Given the description of an element on the screen output the (x, y) to click on. 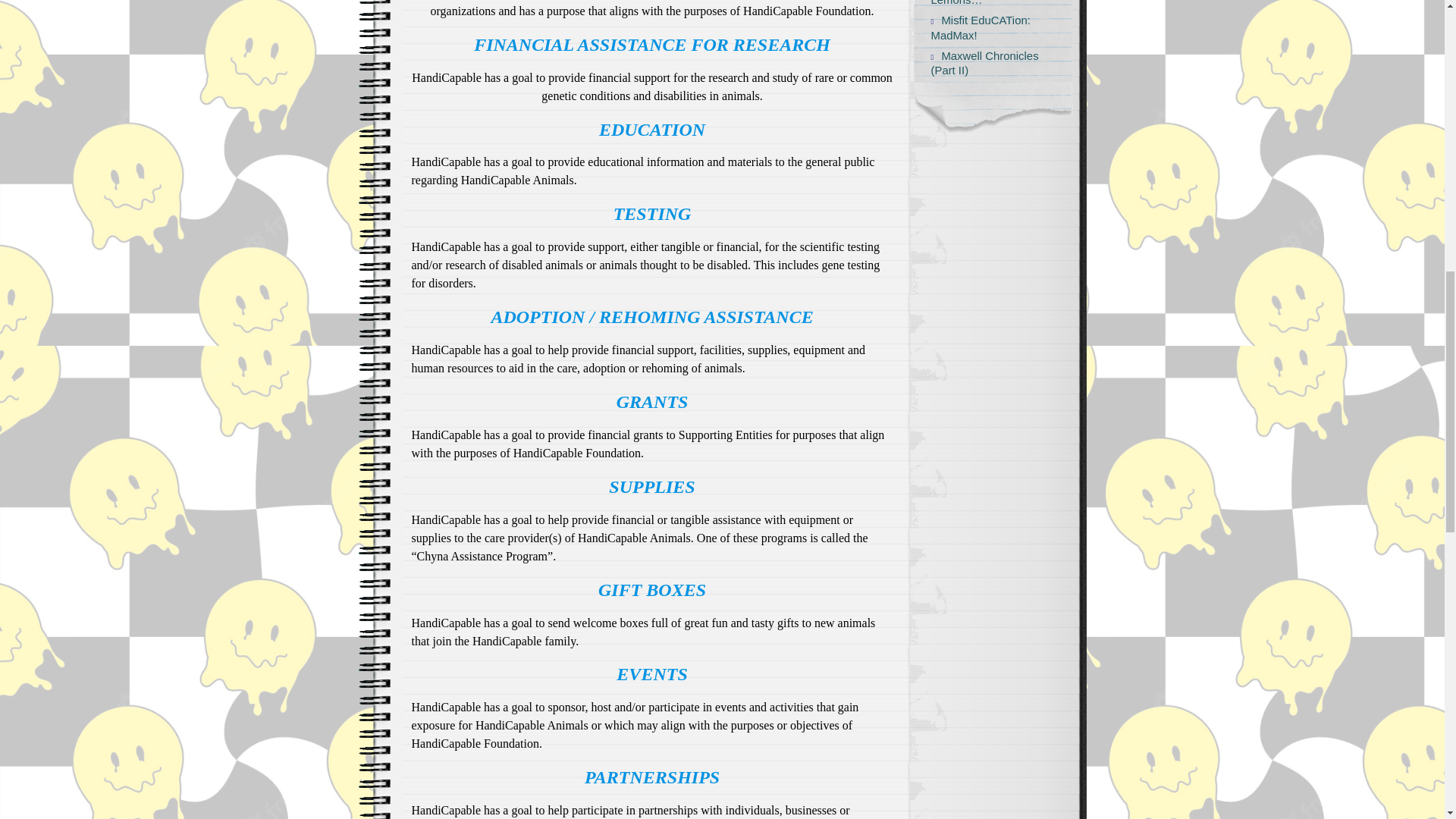
Misfit EduCATion: MadMax! (985, 27)
